Given the description of an element on the screen output the (x, y) to click on. 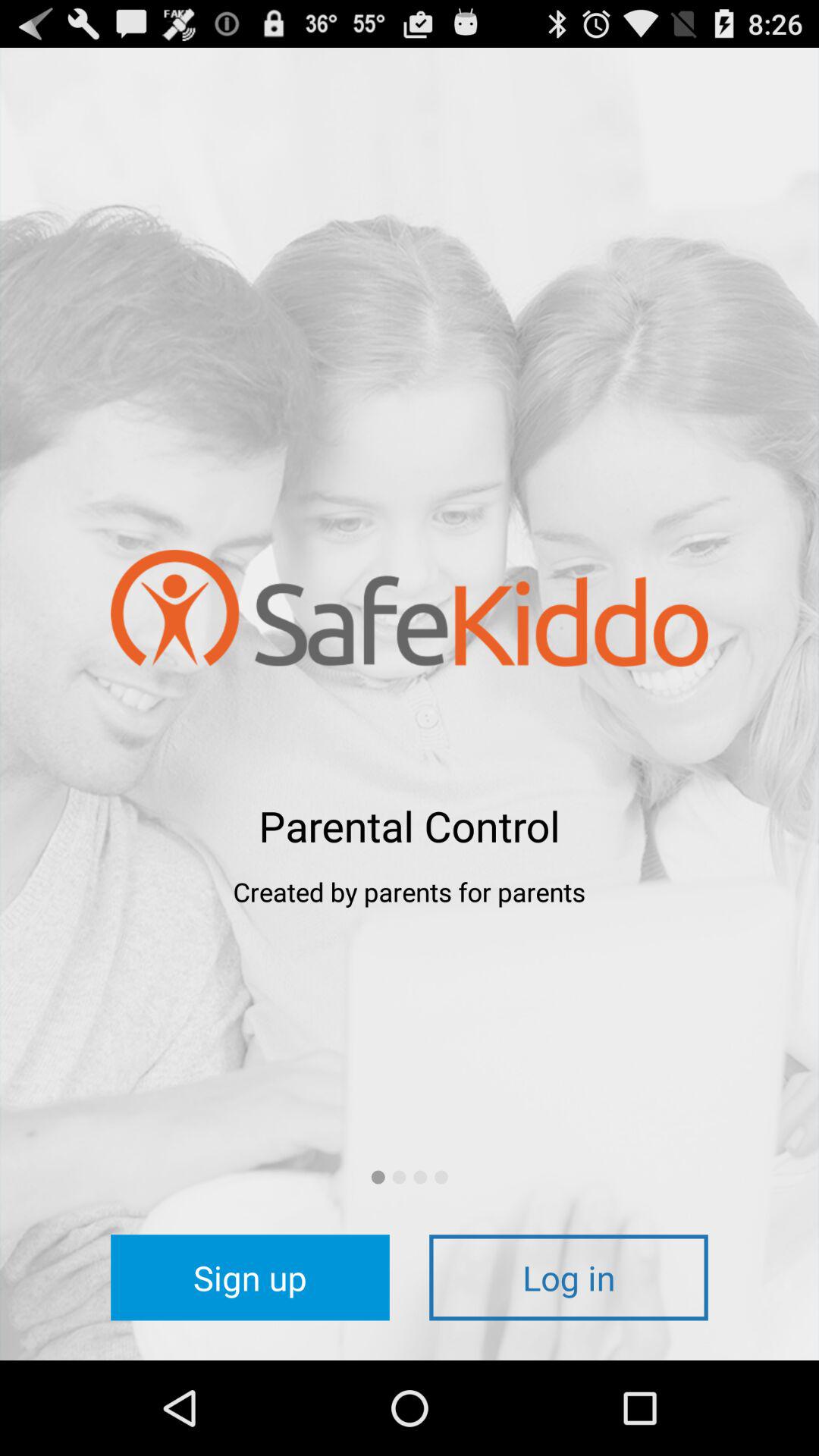
click the log in button (568, 1277)
